Given the description of an element on the screen output the (x, y) to click on. 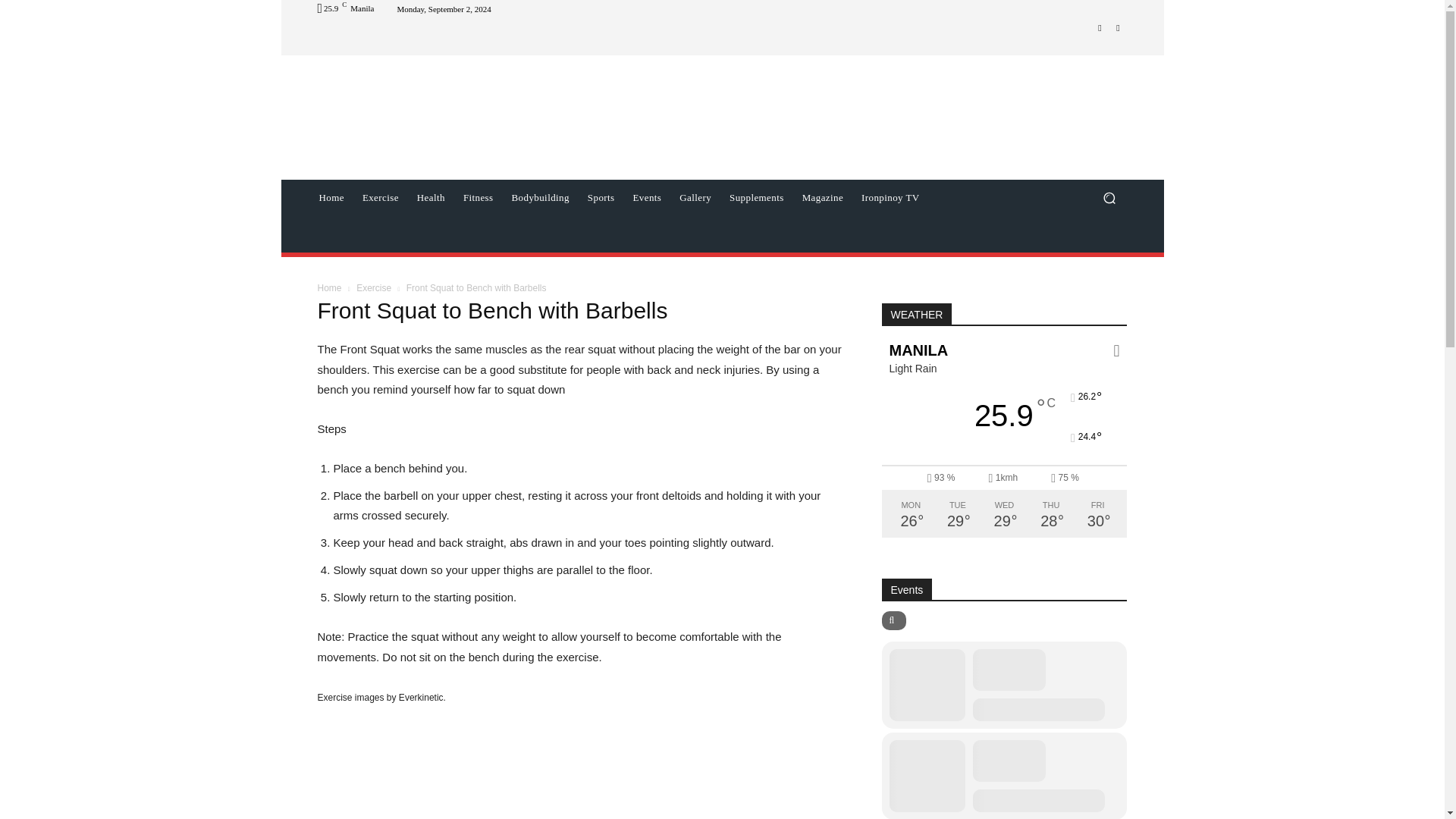
Facebook (1099, 27)
Ironpinoy TV (889, 197)
Sports (601, 197)
Magazine (822, 197)
Home (330, 197)
Health (430, 197)
Youtube (1117, 27)
Fitness (478, 197)
Bodybuilding (540, 197)
Exercise (380, 197)
